Given the description of an element on the screen output the (x, y) to click on. 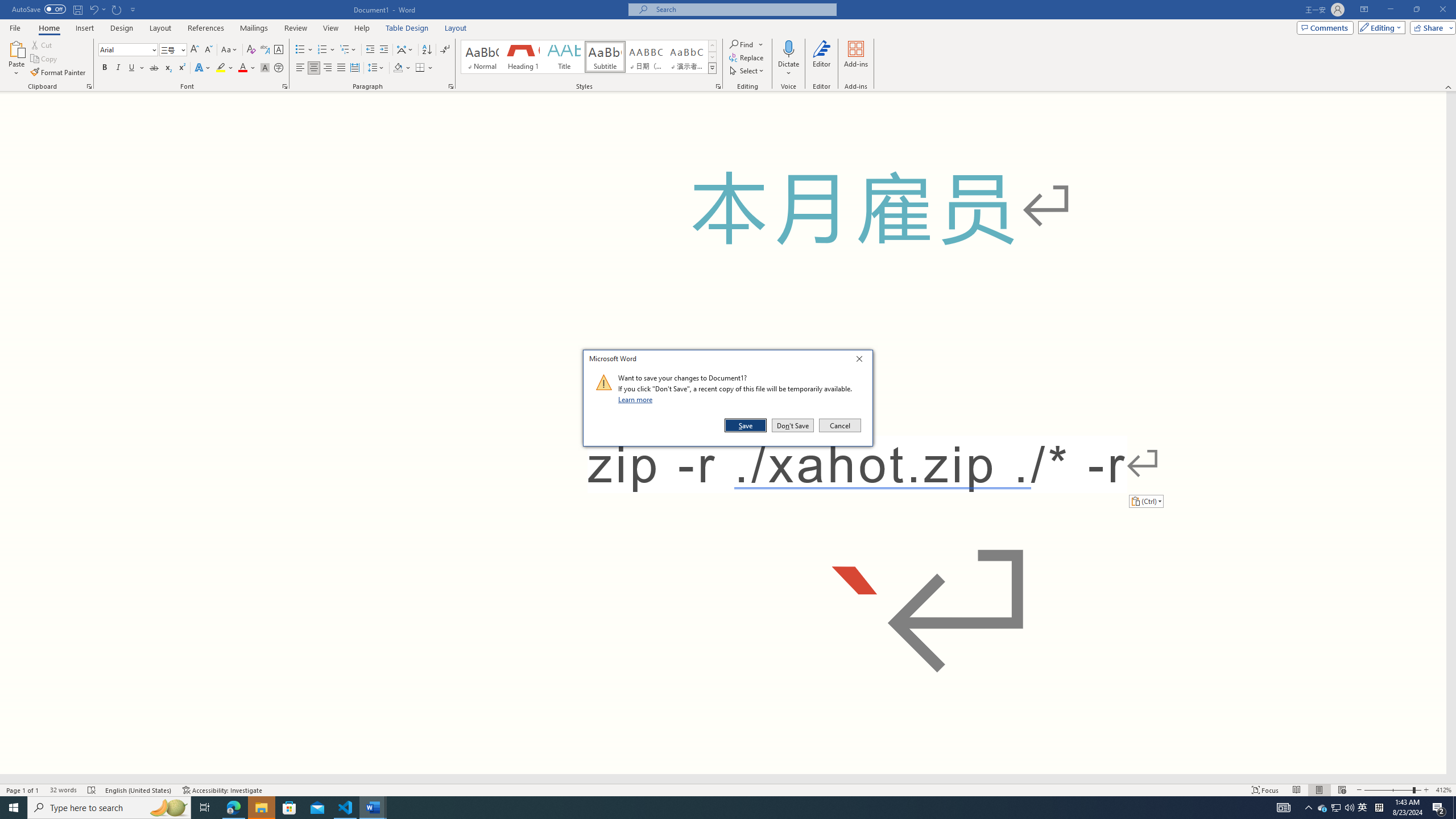
Don't Save (792, 425)
Tray Input Indicator - Chinese (Simplified, China) (1378, 807)
Font Color Red (241, 67)
Running applications (700, 807)
